Given the description of an element on the screen output the (x, y) to click on. 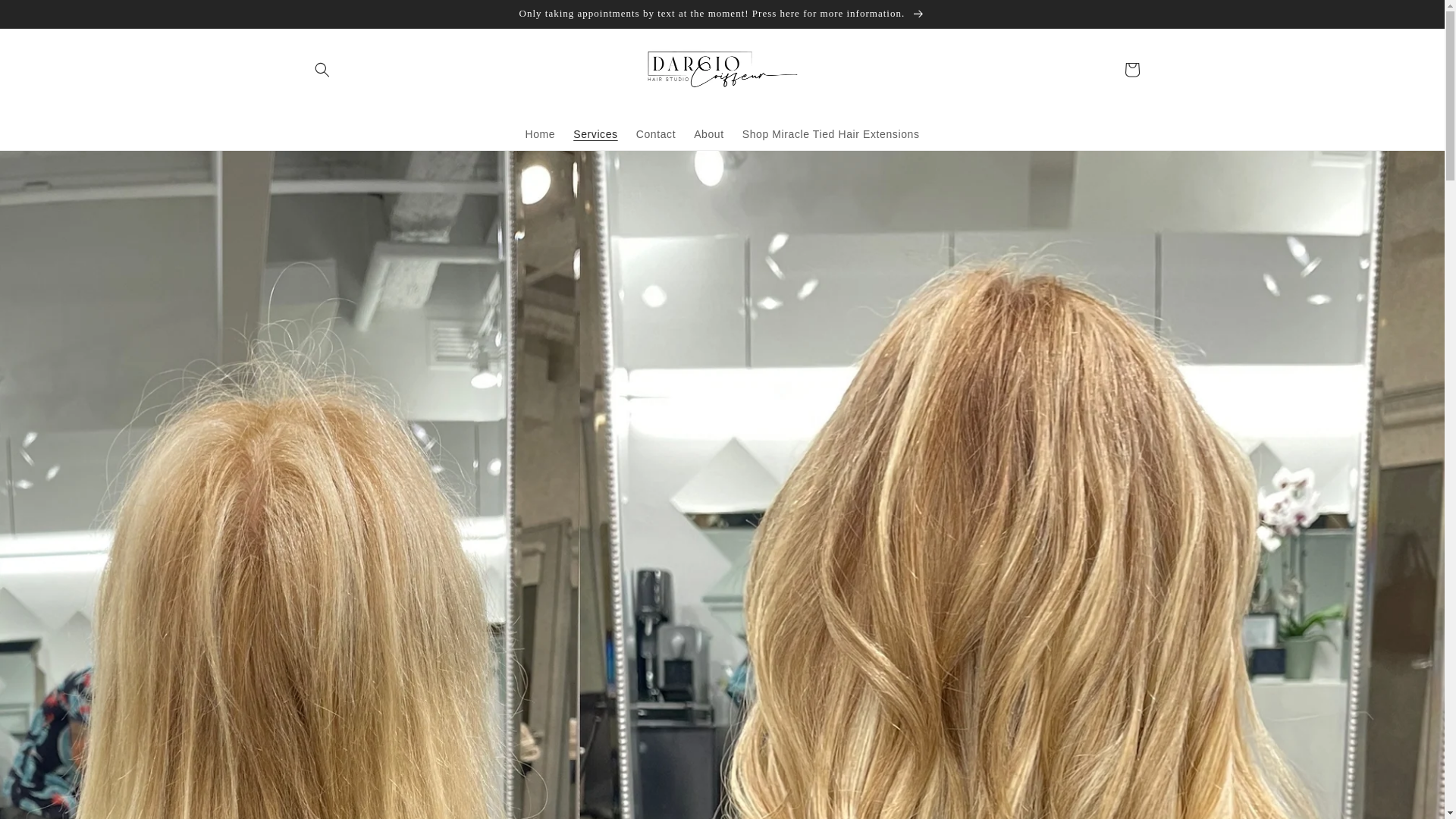
Services (595, 133)
About (708, 133)
Skip to content (45, 17)
Shop Miracle Tied Hair Extensions (830, 133)
Home (539, 133)
Contact (655, 133)
Cart (1131, 69)
